Given the description of an element on the screen output the (x, y) to click on. 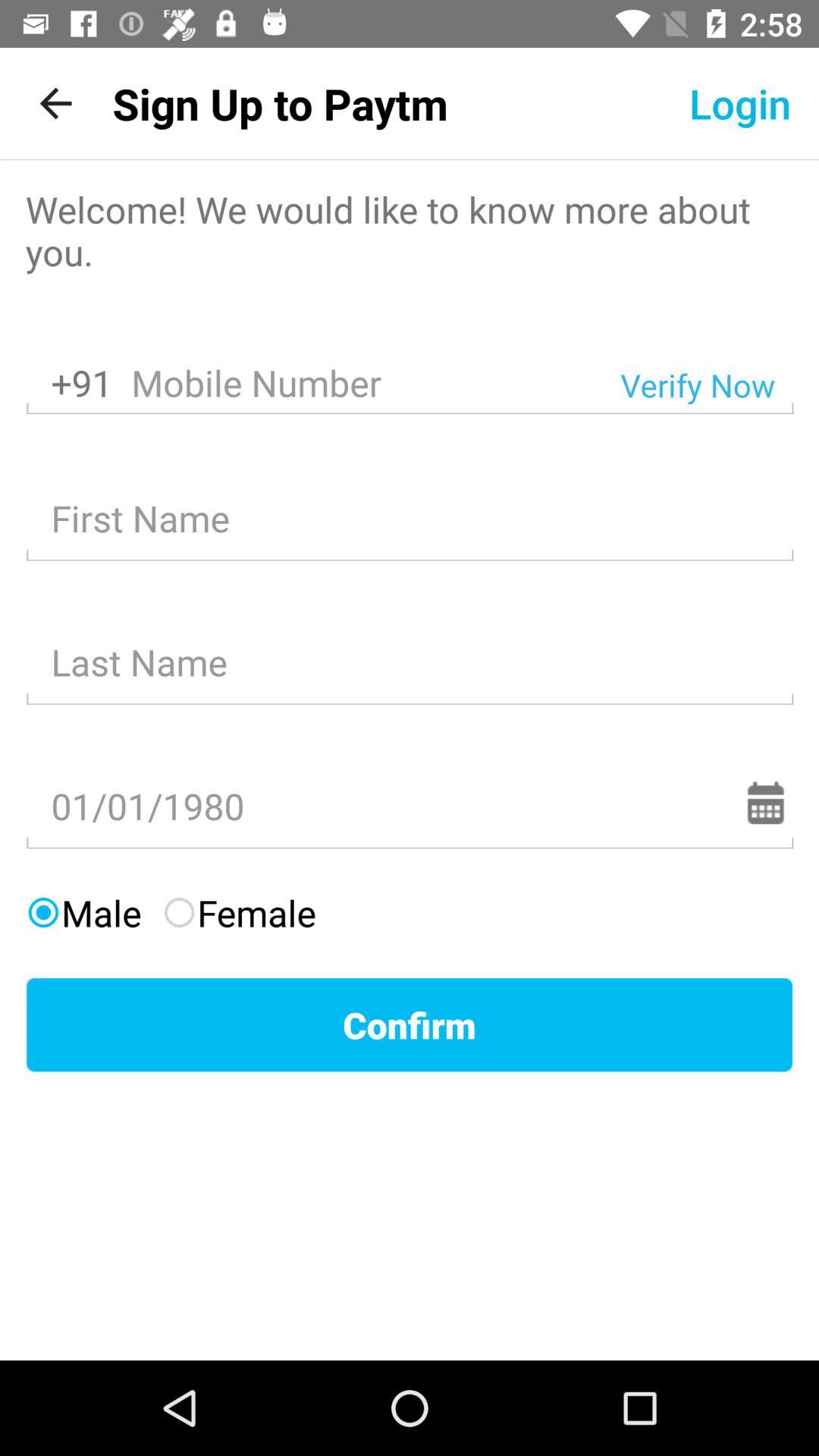
turn off the icon to the left of login icon (280, 103)
